Given the description of an element on the screen output the (x, y) to click on. 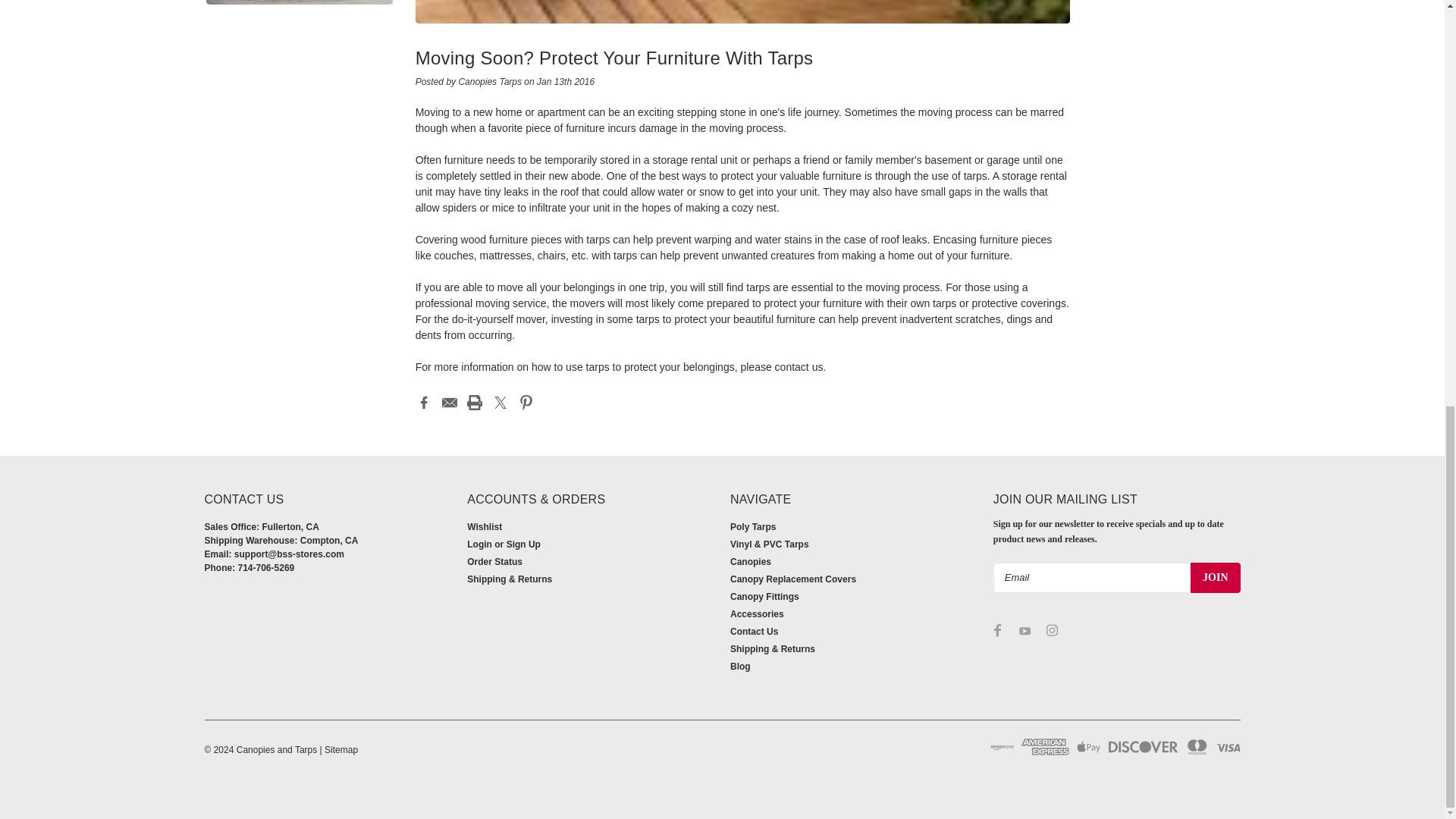
Facebook (423, 402)
Twitter (500, 402)
Email (449, 402)
Print (474, 402)
Join (1215, 577)
Pinterest (526, 402)
